Given the description of an element on the screen output the (x, y) to click on. 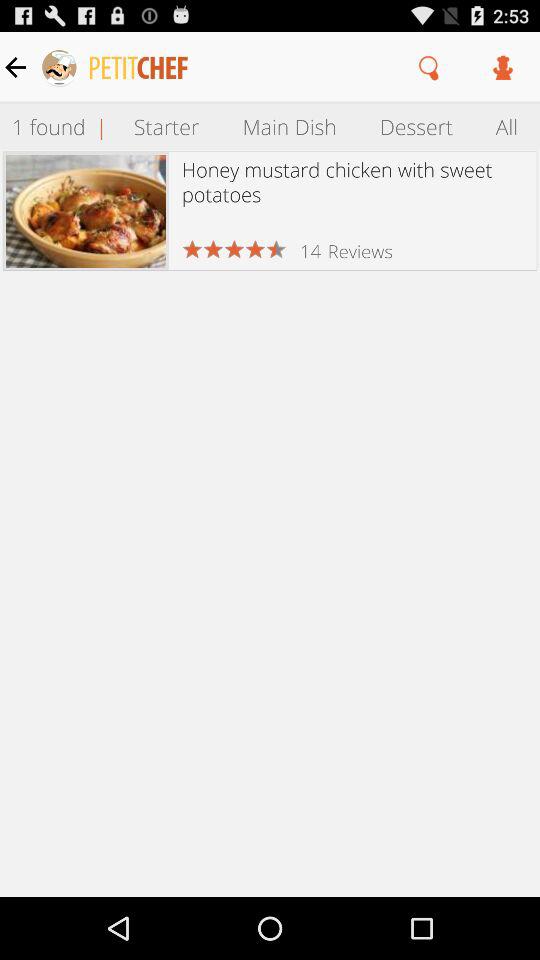
open 14 (310, 250)
